Given the description of an element on the screen output the (x, y) to click on. 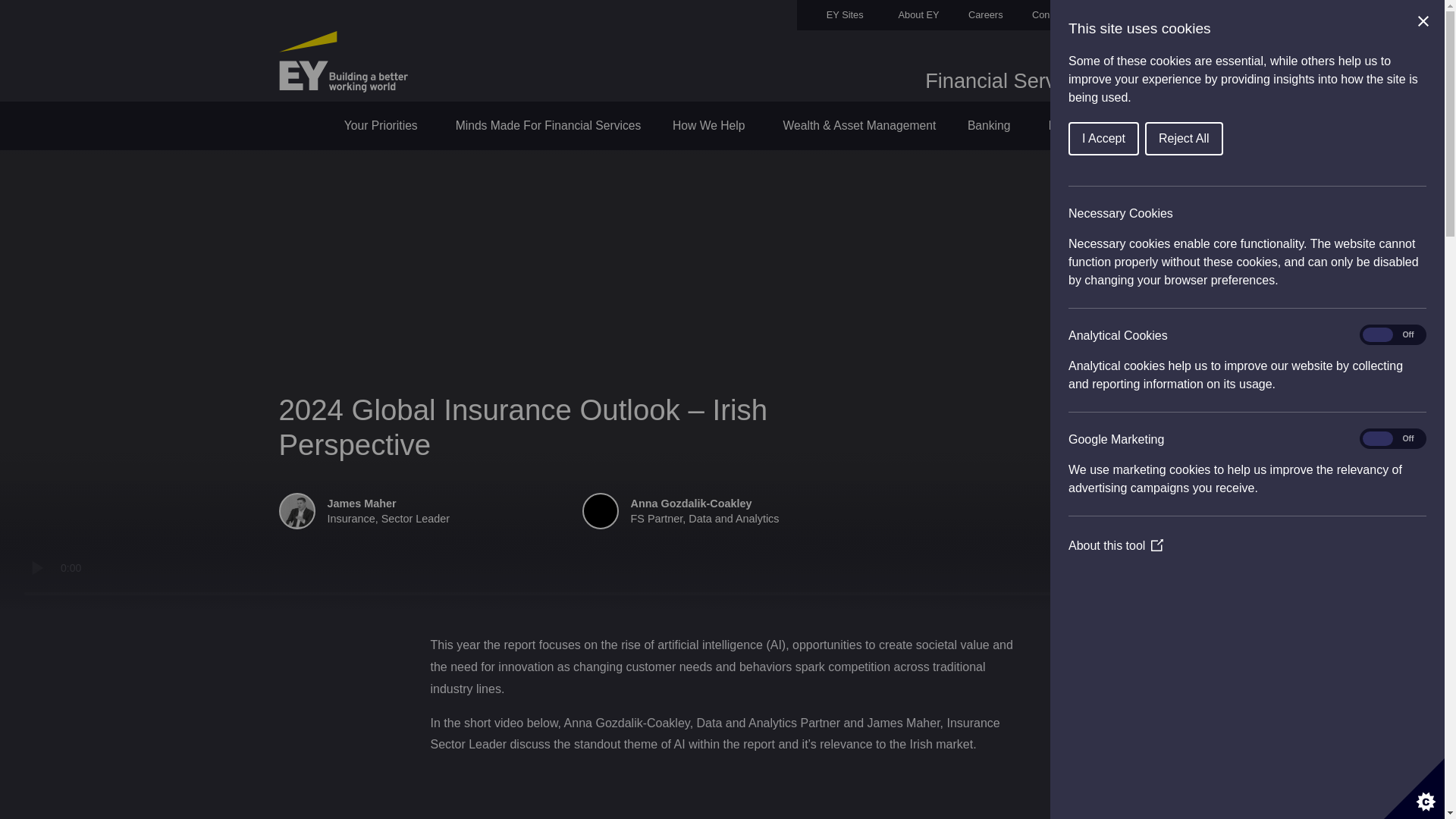
How We Help (711, 125)
EY Sites (832, 15)
Careers (971, 15)
Minds Made For Financial Services (547, 125)
Insurance (1074, 125)
About EY (904, 15)
Banking (992, 125)
Search (1136, 15)
Your Priorities (384, 125)
EY (343, 60)
Connect with us (1054, 15)
